Given the description of an element on the screen output the (x, y) to click on. 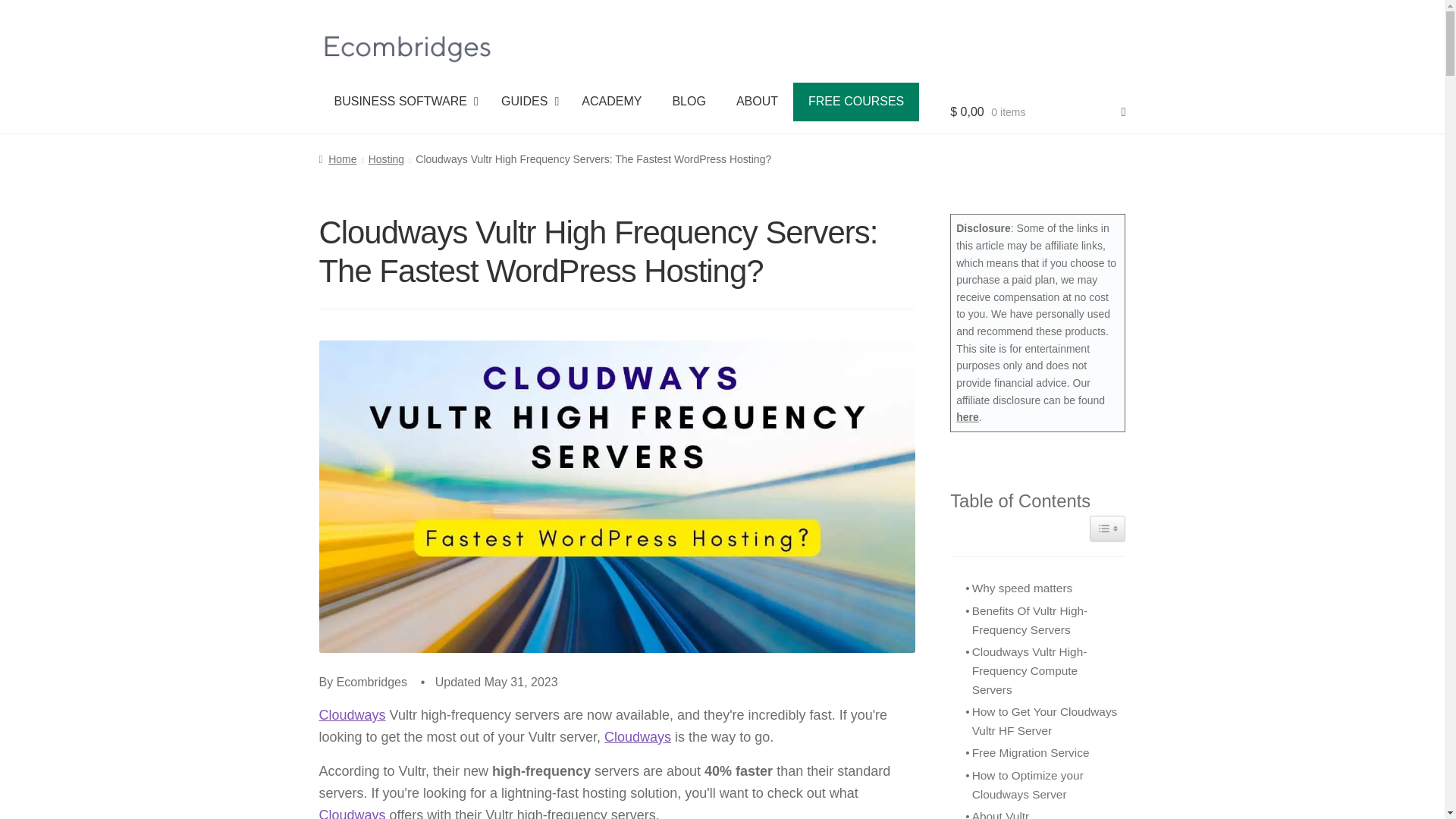
Home (337, 159)
Cloudways (351, 714)
Cloudways (351, 813)
BUSINESS SOFTWARE (619, 101)
Cloudways (402, 101)
View your shopping cart (351, 813)
ACADEMY (1037, 107)
BLOG (611, 101)
Cloudways (688, 101)
Skip to navigation (637, 736)
ABOUT (526, 101)
Cloudways (756, 101)
Hosting (351, 714)
